Given the description of an element on the screen output the (x, y) to click on. 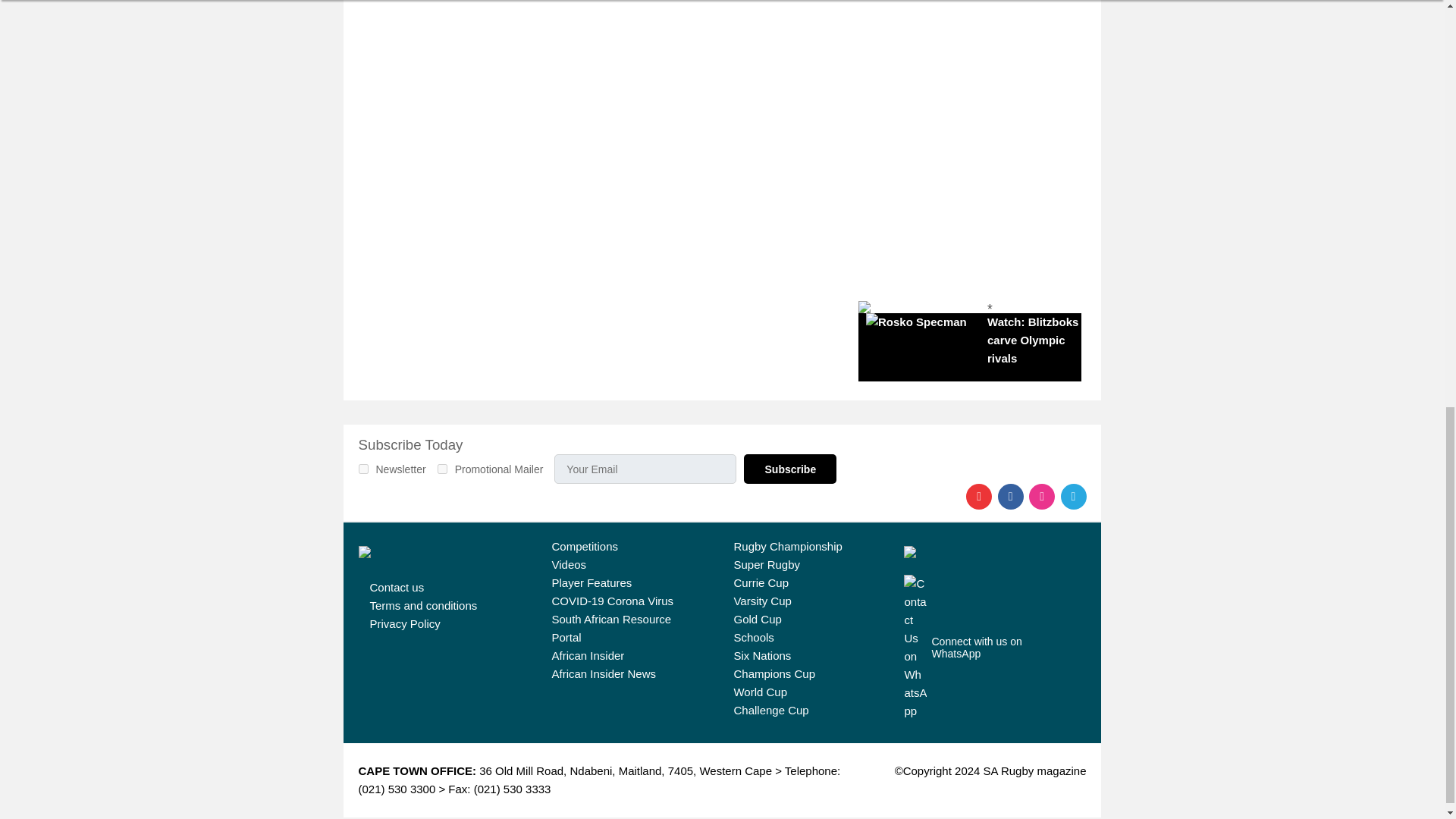
Subscribe (789, 469)
18751 (363, 469)
19011 (442, 469)
